Given the description of an element on the screen output the (x, y) to click on. 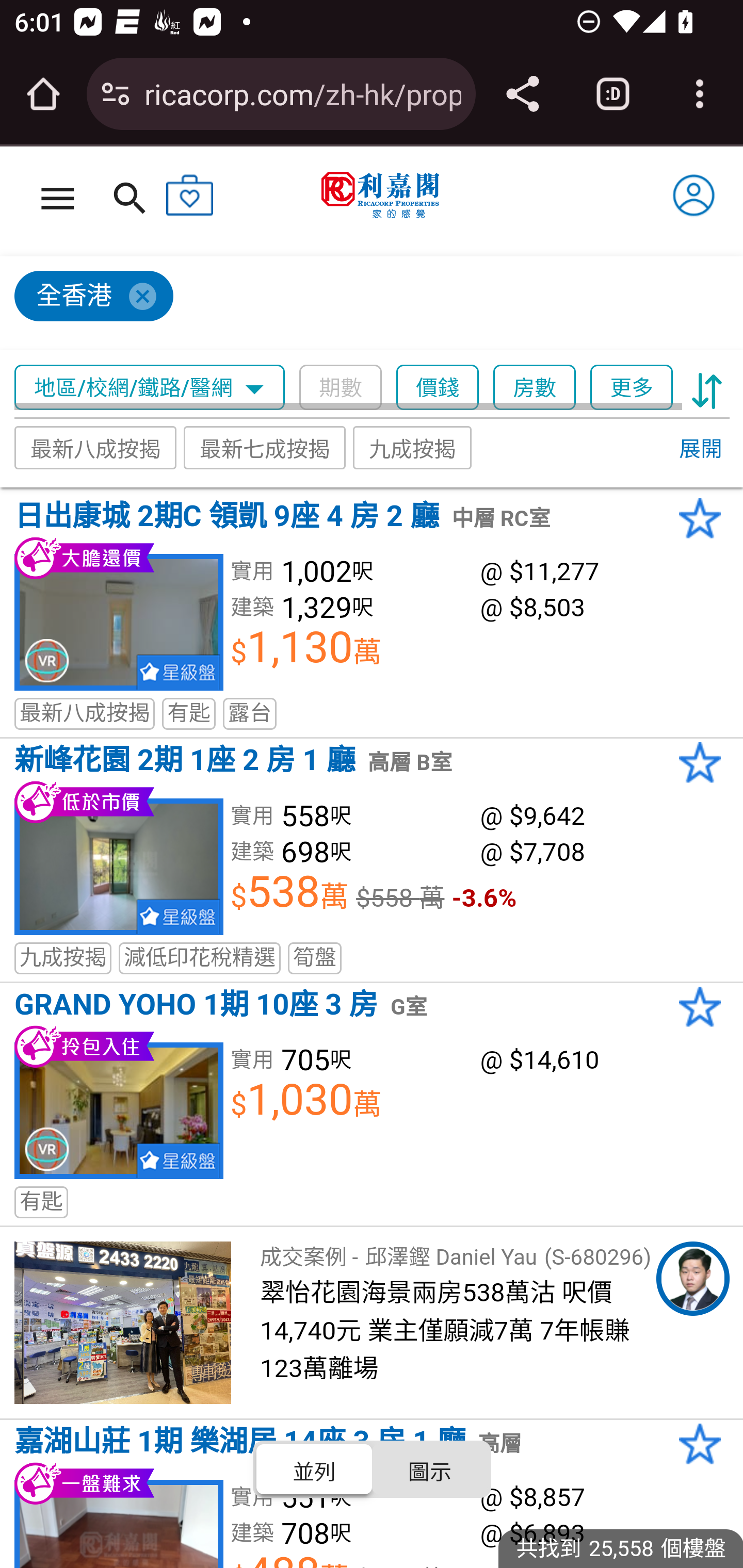
Open the home page (43, 93)
Connection is secure (115, 93)
Share (522, 93)
Switch or close tabs (612, 93)
Customize and control Google Chrome (699, 93)
ricacorp.com/zh-hk/property/list/buy (302, 92)
全香港 (363, 304)
地區/校網/鐵路/醫網 (149, 387)
期數 (339, 387)
價錢 (437, 387)
房數 (535, 387)
更多 (630, 387)
sort (706, 387)
最新八成按揭 (96, 446)
最新七成按揭 (264, 446)
九成按揭 (412, 446)
並列 (314, 1468)
圖示 (429, 1468)
